Given the description of an element on the screen output the (x, y) to click on. 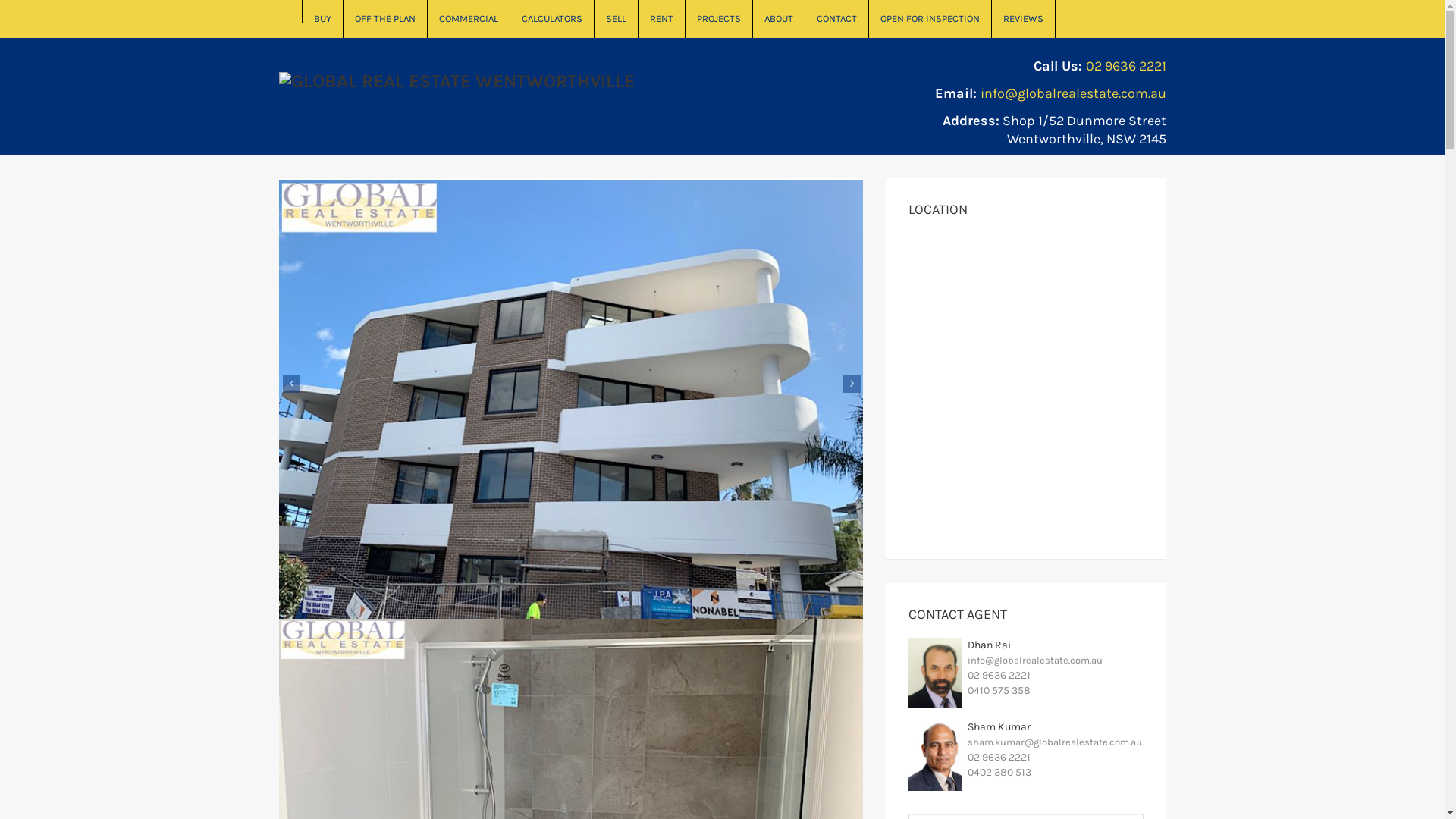
0410 575 358 Element type: text (998, 690)
PROJECTS Element type: text (719, 18)
info@globalrealestate.com.au Element type: text (1034, 659)
OFF THE PLAN Element type: text (384, 18)
REVIEWS Element type: text (1023, 18)
BUY Element type: text (321, 18)
ABOUT Element type: text (778, 18)
sham.kumar@globalrealestate.com.au Element type: text (1054, 741)
SELL Element type: text (616, 18)
02 9636 2221 Element type: text (998, 756)
OPEN FOR INSPECTION Element type: text (930, 18)
Sham Kumar Element type: text (998, 726)
COMMERCIAL Element type: text (468, 18)
info@globalrealestate.com.au Element type: text (1072, 92)
02 9636 2221 Element type: text (998, 674)
RENT Element type: text (661, 18)
0402 380 513 Element type: text (999, 771)
CALCULATORS Element type: text (551, 18)
CONTACT Element type: text (837, 18)
02 9636 2221 Element type: text (1125, 65)
Dhan Rai Element type: text (988, 644)
